Given the description of an element on the screen output the (x, y) to click on. 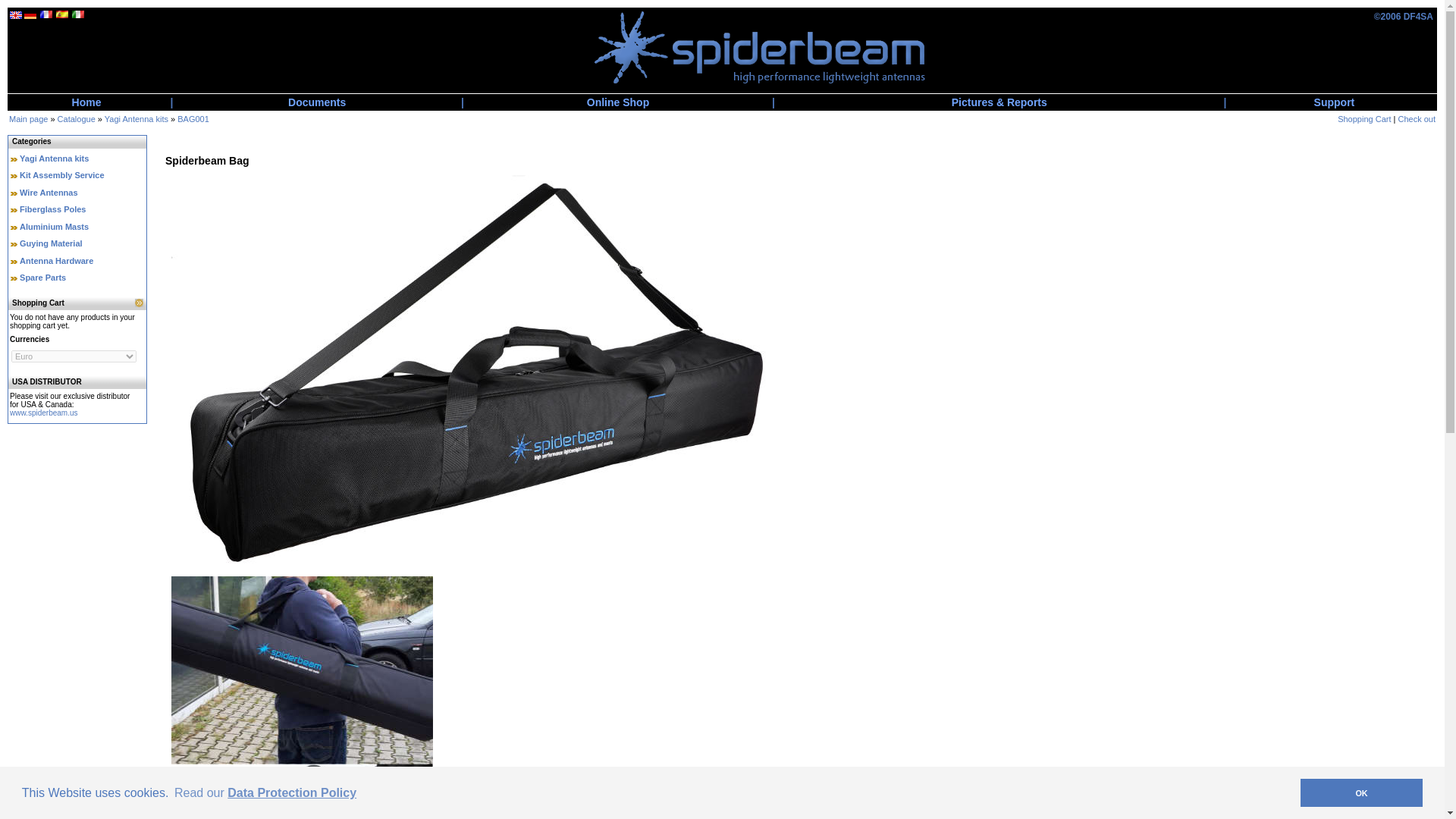
Read our Data Protection Policy (264, 792)
BAG001 (193, 118)
Home (86, 102)
Guying Material (51, 243)
Wire Antennas (49, 192)
Main page (28, 118)
Catalogue (77, 118)
Kit Assembly Service (61, 174)
Italiano (77, 13)
Shopping Cart (1364, 118)
